Given the description of an element on the screen output the (x, y) to click on. 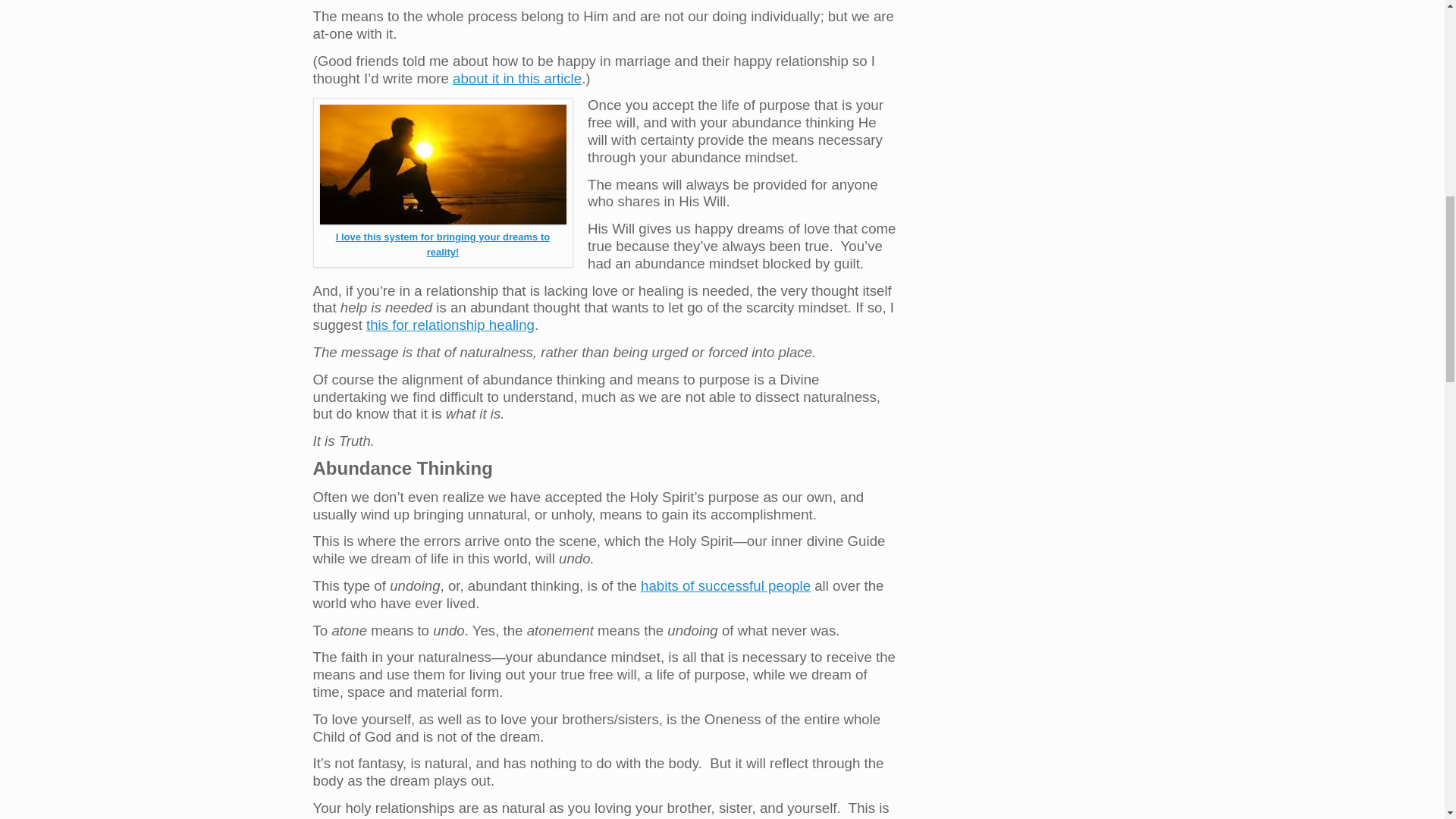
about it in this article (516, 78)
habits of successful people (725, 585)
this for relationship healing (450, 324)
I love this system for bringing your dreams to reality! (443, 244)
